Given the description of an element on the screen output the (x, y) to click on. 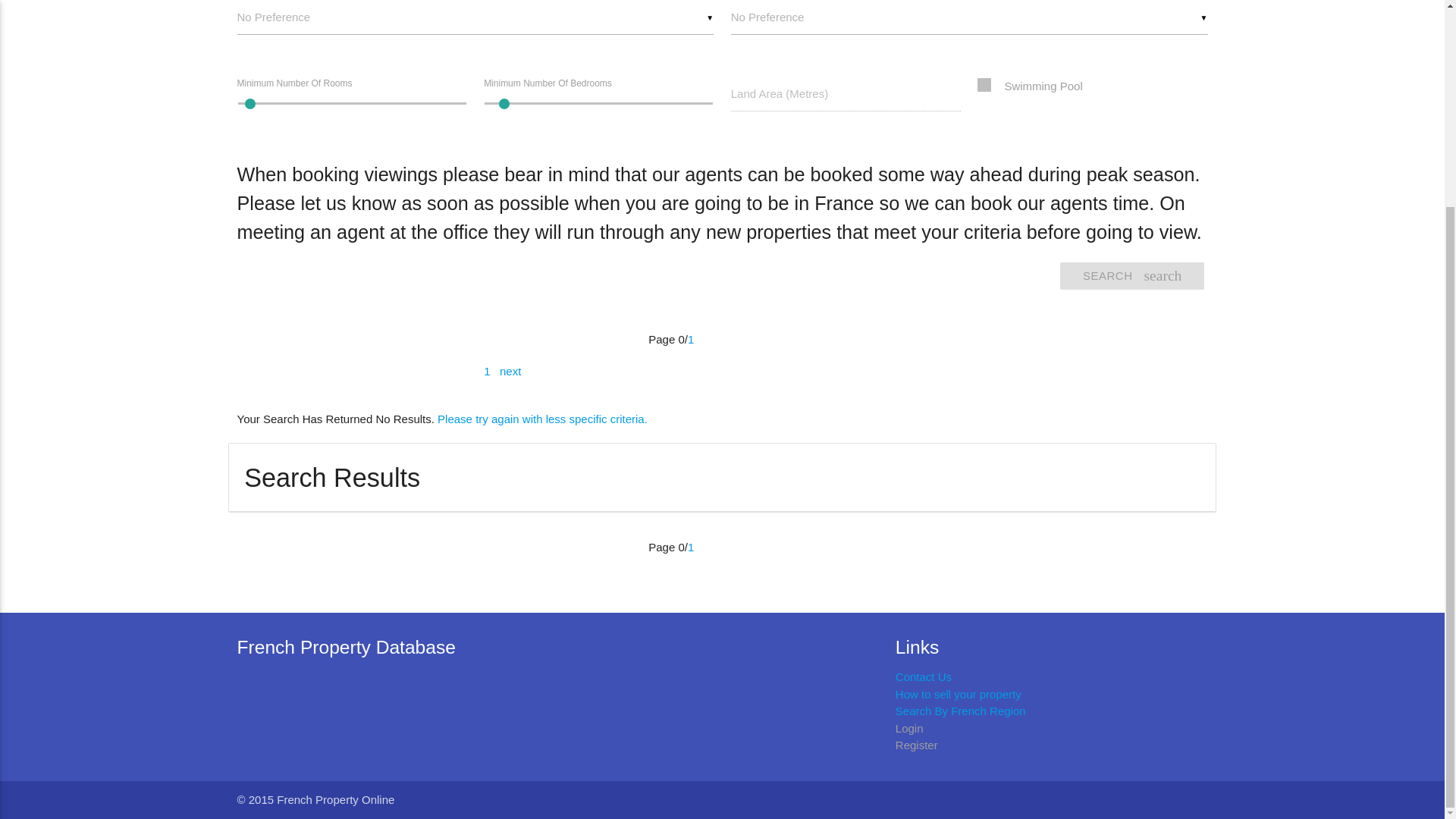
1 (598, 103)
No Preference (1131, 275)
1 (474, 17)
1 (690, 338)
No Preference (350, 103)
1 (969, 17)
next (488, 370)
